Given the description of an element on the screen output the (x, y) to click on. 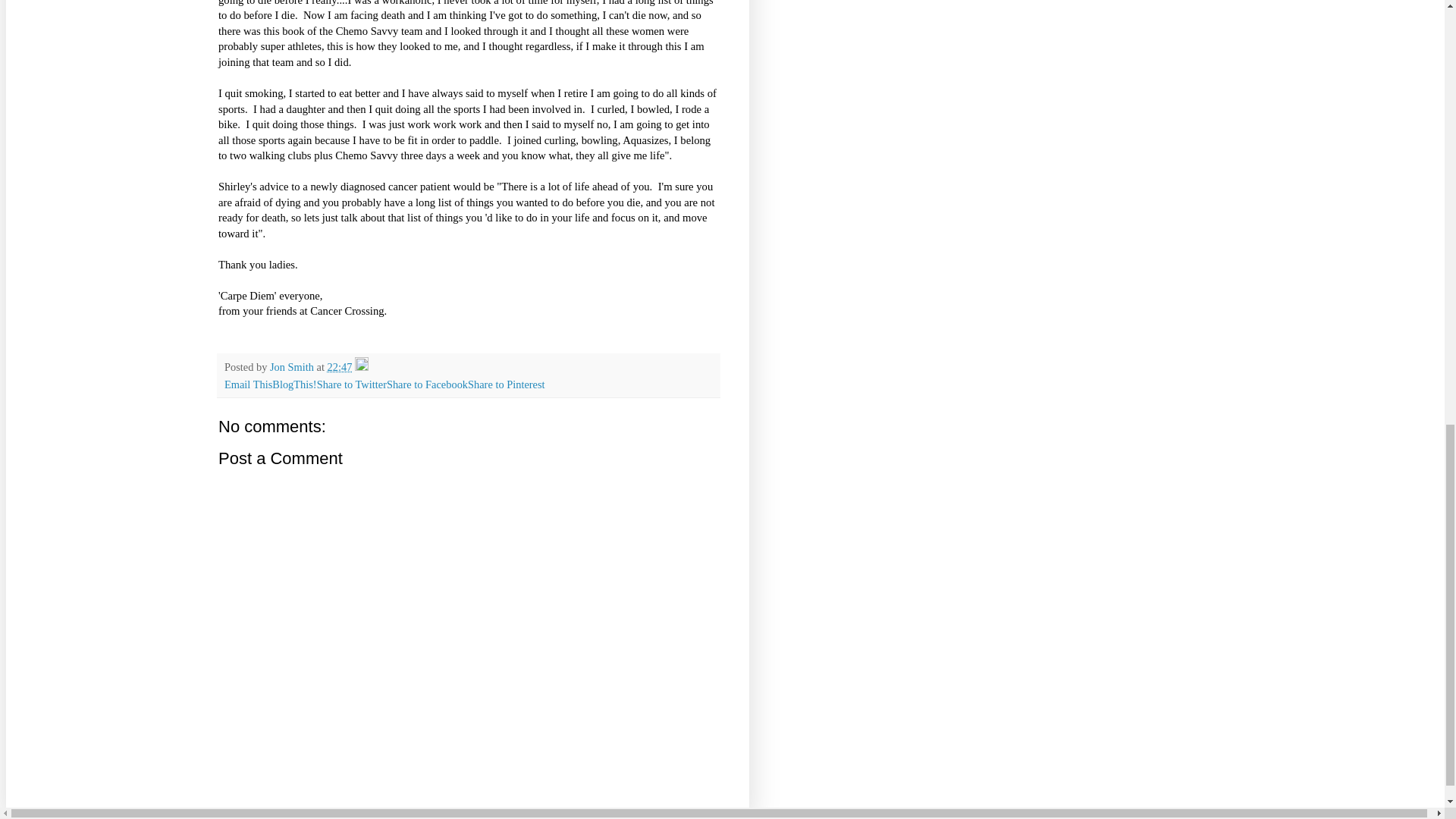
Email This (248, 384)
Share to Pinterest (505, 384)
BlogThis! (293, 384)
permanent link (339, 367)
Email This (248, 384)
BlogThis! (293, 384)
Share to Facebook (427, 384)
Share to Pinterest (505, 384)
Share to Twitter (352, 384)
Share to Twitter (352, 384)
